Given the description of an element on the screen output the (x, y) to click on. 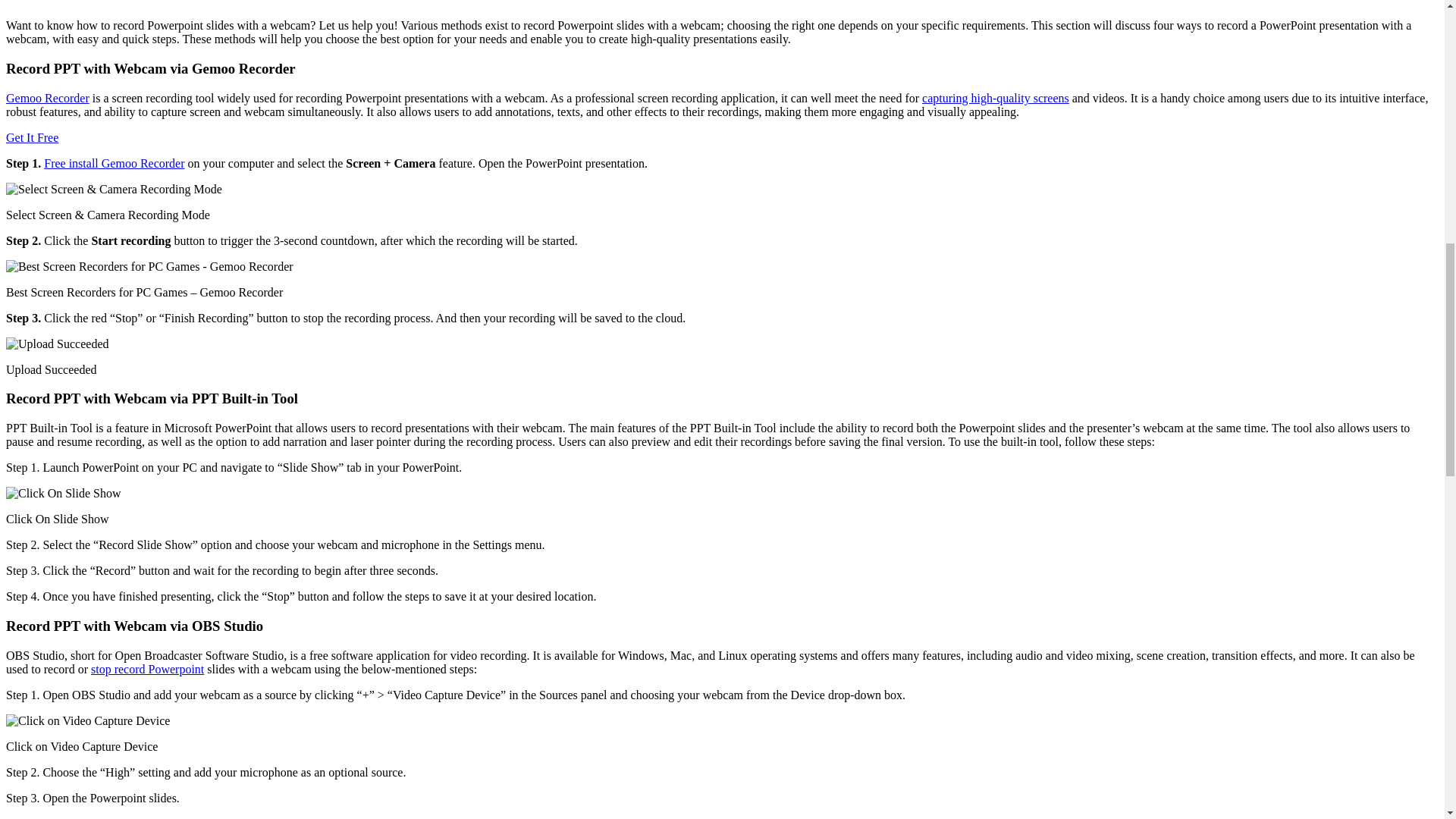
capturing high-quality screens (994, 97)
stop record Powerpoint (146, 668)
Get It Free (31, 137)
Free install Gemoo Recorder (113, 163)
Gemoo Recorder (46, 97)
